Given the description of an element on the screen output the (x, y) to click on. 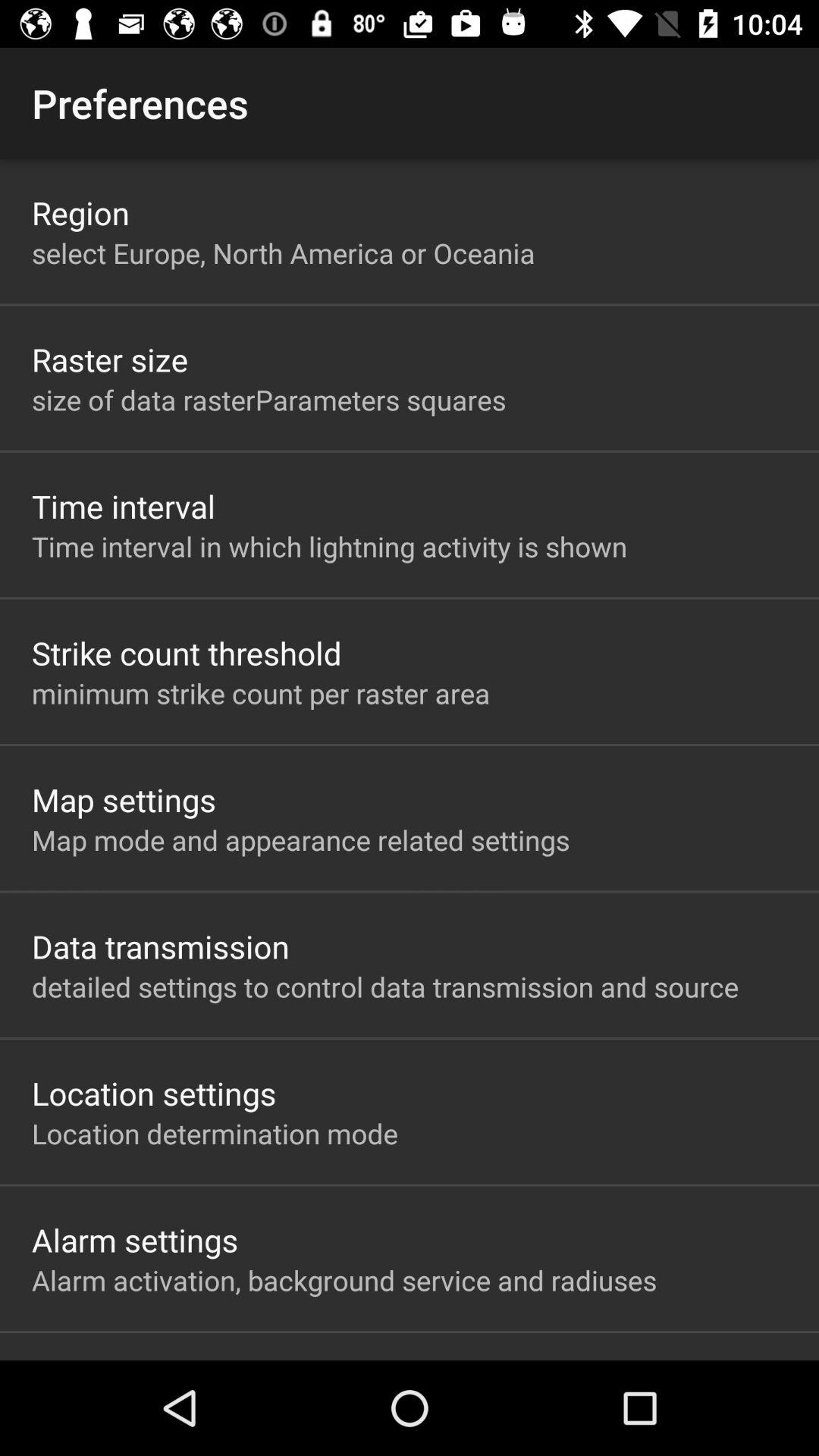
launch the alarm activation background item (343, 1280)
